Given the description of an element on the screen output the (x, y) to click on. 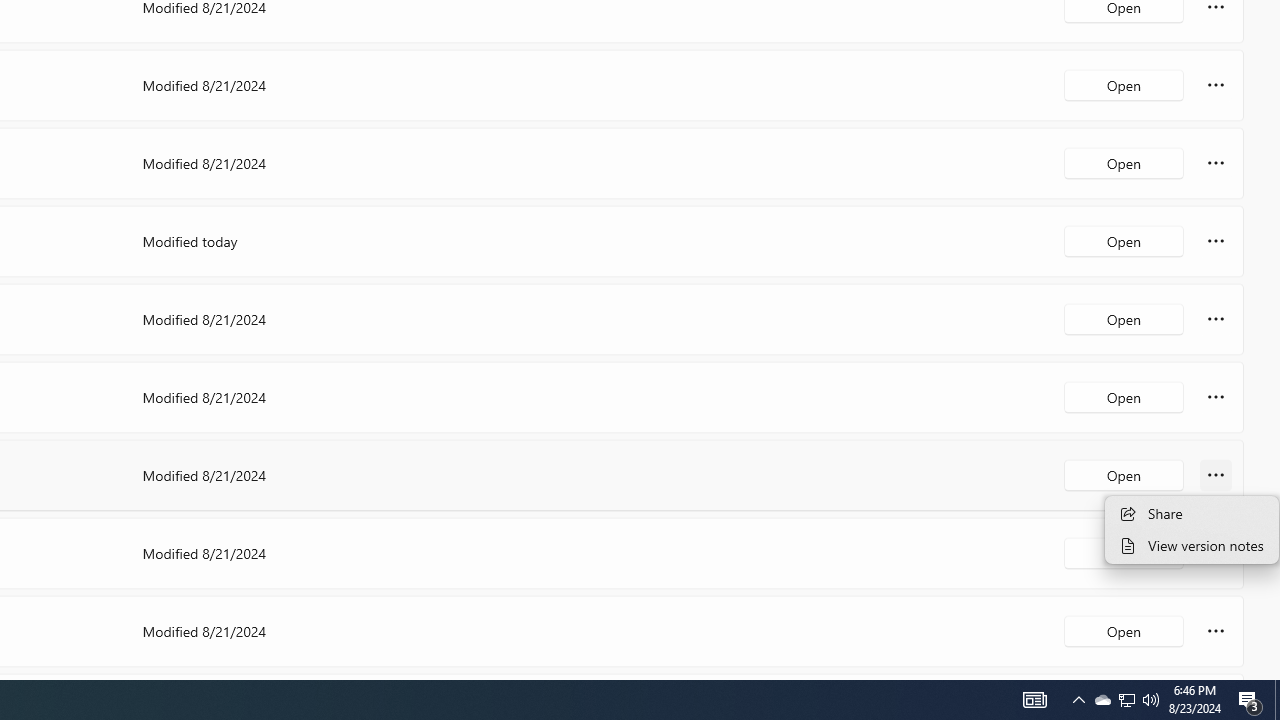
More options (1215, 630)
Open (1123, 630)
Vertical Small Increase (1272, 672)
